Given the description of an element on the screen output the (x, y) to click on. 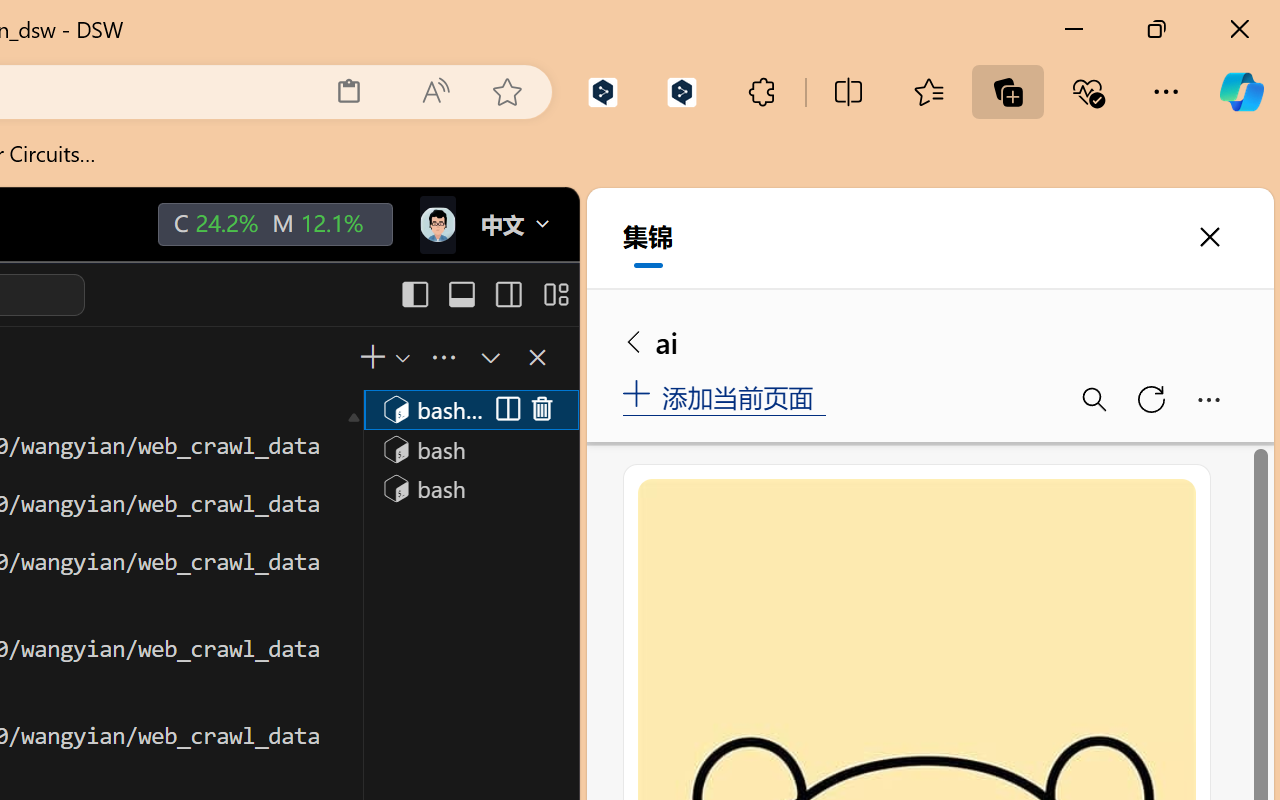
Title actions (484, 294)
Terminal 2 bash (470, 448)
Terminal 1 bash (470, 409)
Views and More Actions... (442, 357)
Class: actions-container (523, 409)
Restore Panel Size (488, 357)
Close Panel (535, 357)
